Given the description of an element on the screen output the (x, y) to click on. 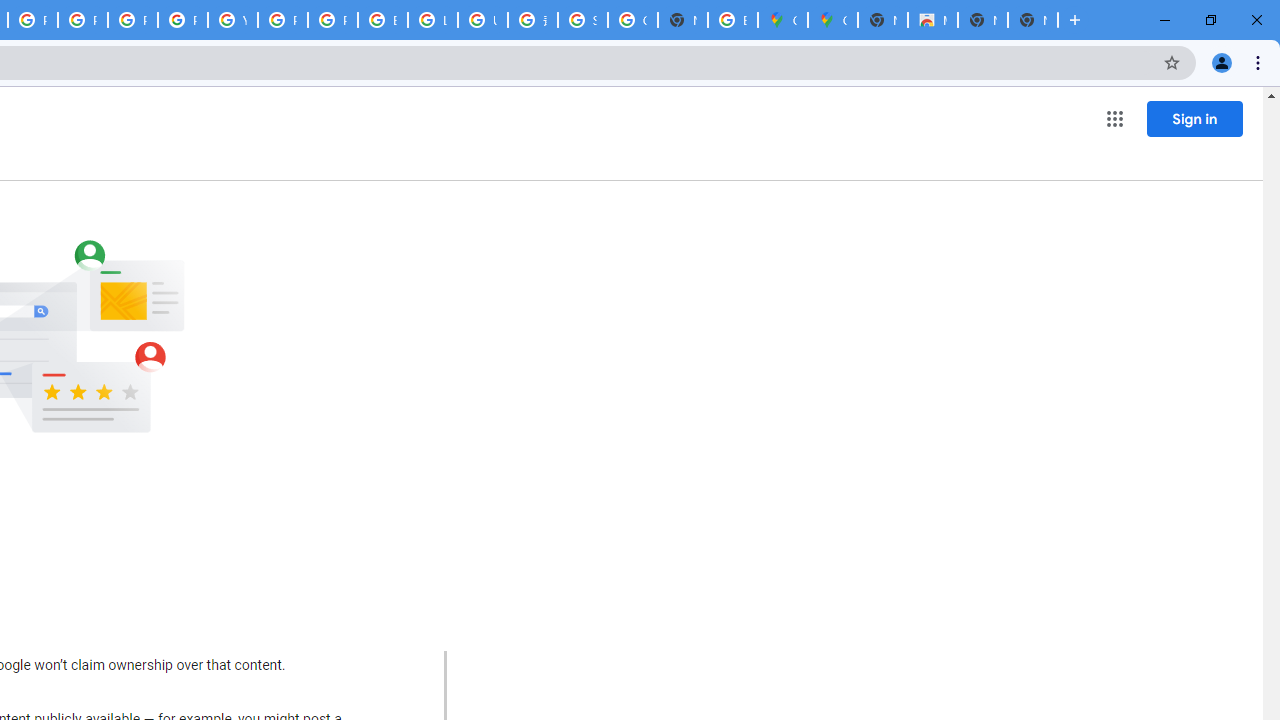
Google Maps (782, 20)
New Tab (882, 20)
Privacy Help Center - Policies Help (132, 20)
